Given the description of an element on the screen output the (x, y) to click on. 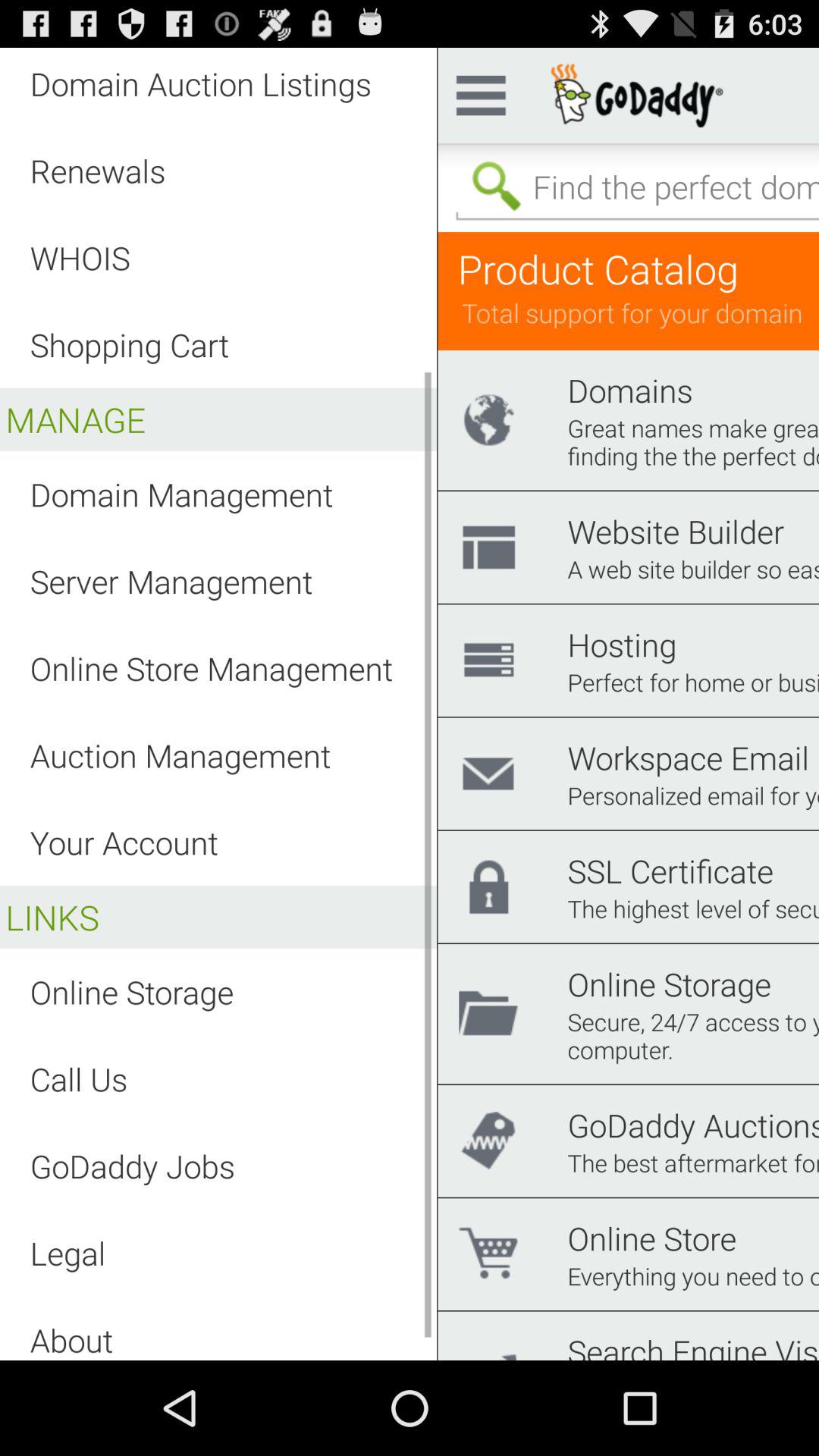
jump to workspace email app (688, 757)
